Given the description of an element on the screen output the (x, y) to click on. 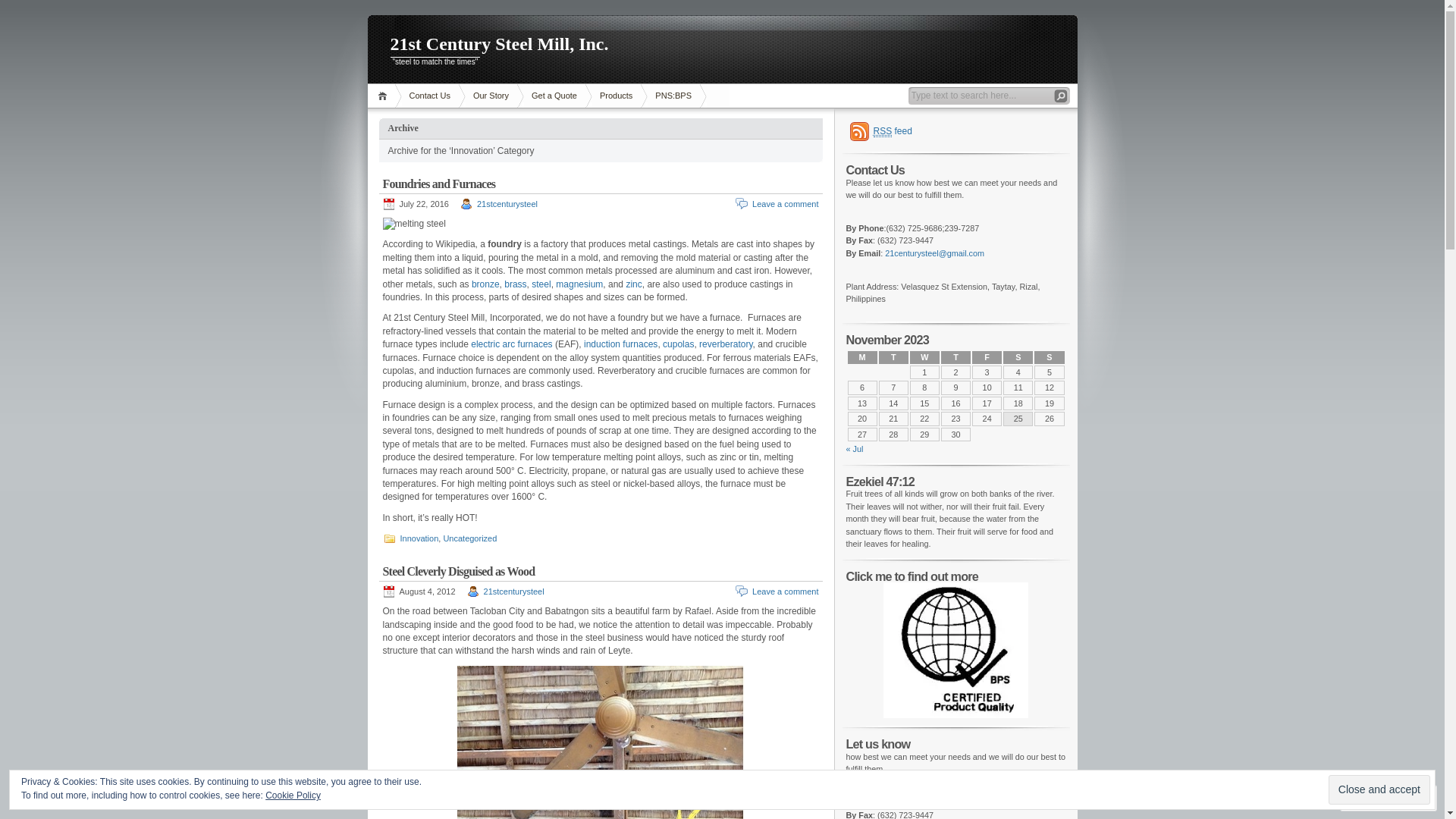
Get a Quote Element type: text (554, 95)
21centurysteel@gmail.com Element type: text (934, 252)
Uncategorized Element type: text (469, 537)
steel Element type: text (540, 284)
Leave a comment Element type: text (785, 591)
Close and accept Element type: text (1379, 789)
electric arc furnaces Element type: text (511, 343)
PNS:BPS Element type: text (673, 95)
cupolas Element type: text (677, 343)
zinc Element type: text (633, 284)
brass Element type: text (515, 284)
magnesium Element type: text (578, 284)
reverberatory Element type: text (725, 343)
Follow Element type: text (1374, 797)
Home Element type: text (384, 95)
Cookie Policy Element type: text (292, 795)
Our Story Element type: text (491, 95)
bronze Element type: text (485, 284)
Leave a comment Element type: text (785, 203)
Steel Cleverly Disguised as Wood Element type: text (458, 570)
RSS feed Element type: text (881, 131)
Products Element type: text (615, 95)
Foundries and Furnaces Element type: text (438, 183)
21stcenturysteel Element type: text (506, 203)
21stcenturysteel Element type: text (513, 591)
Innovation Element type: text (419, 537)
Contact Us Element type: text (429, 95)
induction furnaces Element type: text (620, 343)
21st Century Steel Mill, Inc. Element type: text (721, 45)
